Given the description of an element on the screen output the (x, y) to click on. 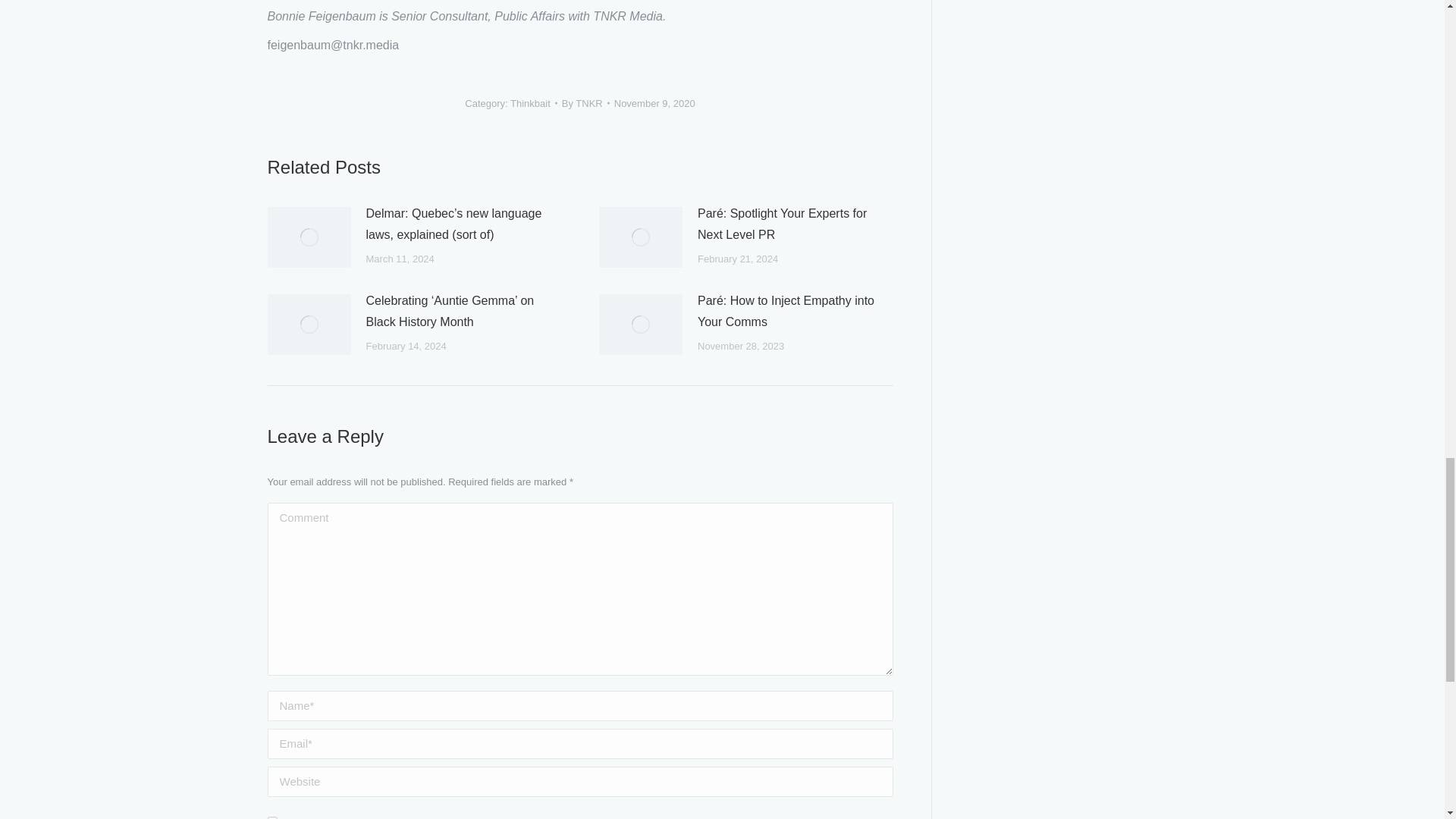
6:31 am (654, 103)
View all posts by TNKR (586, 103)
yes (271, 817)
Thinkbait (530, 102)
By TNKR (586, 103)
November 9, 2020 (654, 103)
